Given the description of an element on the screen output the (x, y) to click on. 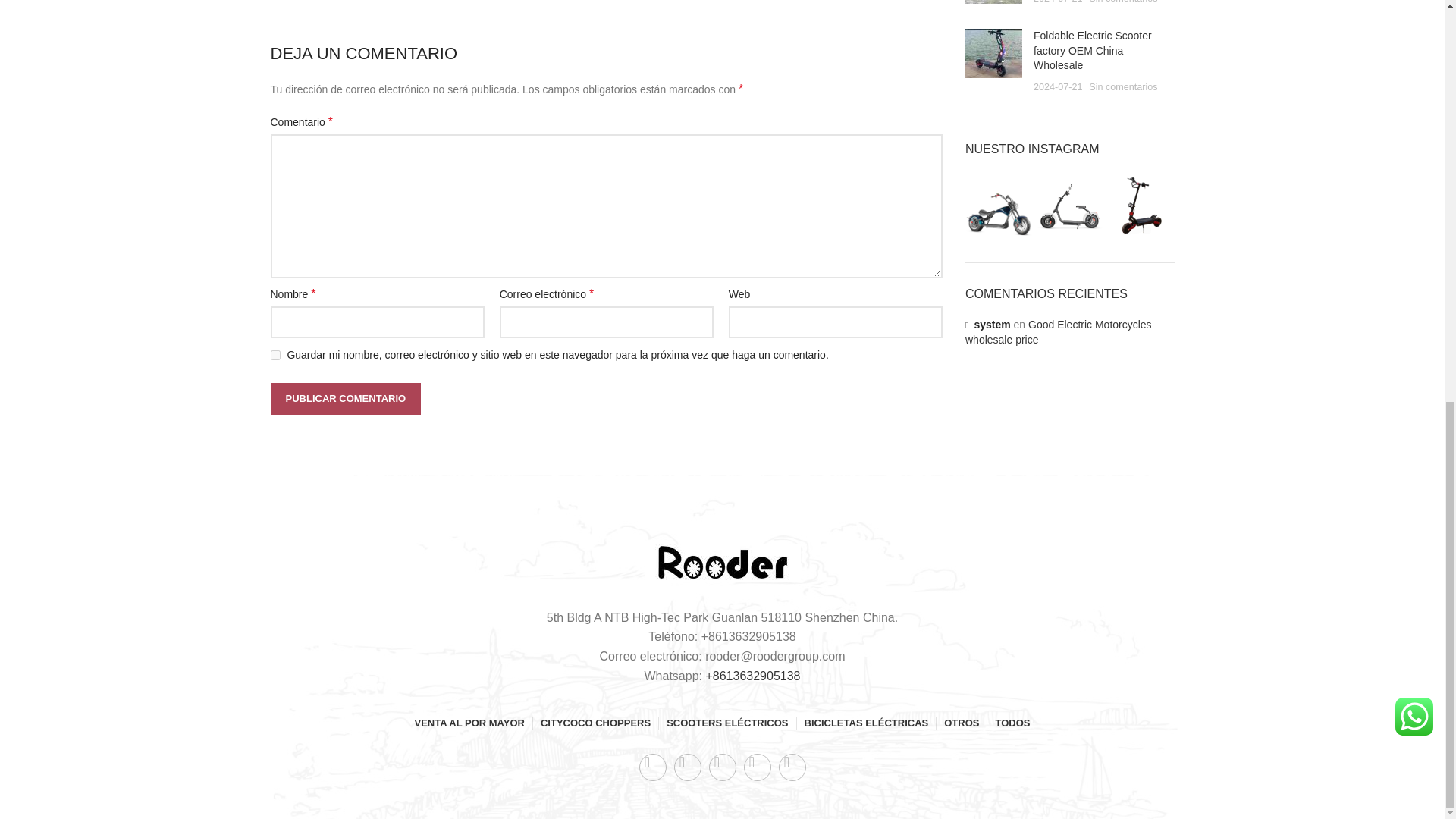
yes (274, 355)
Publicar comentario (344, 398)
